Given the description of an element on the screen output the (x, y) to click on. 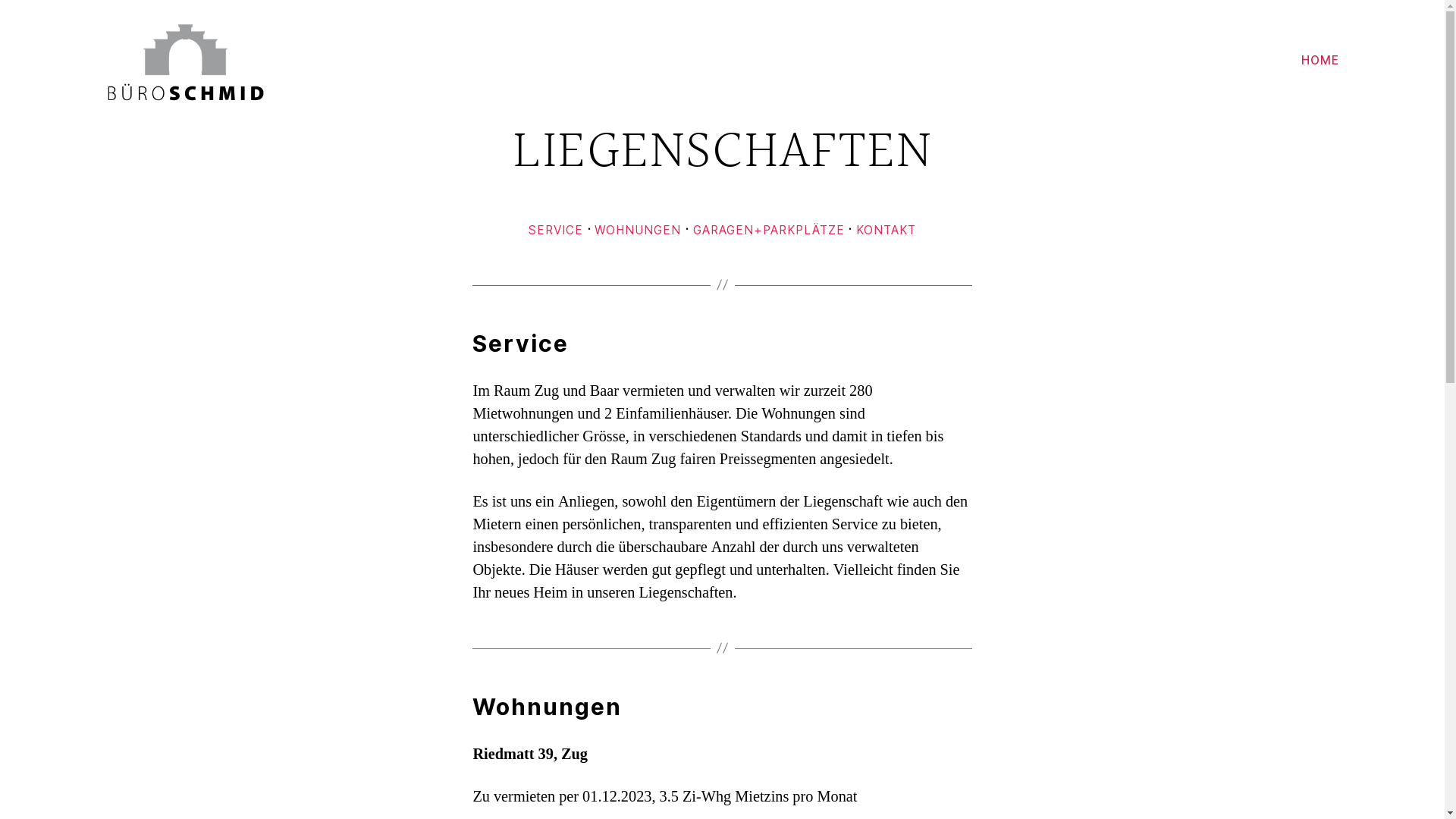
KONTAKT Element type: text (886, 229)
SERVICE Element type: text (555, 229)
HOME Element type: text (1320, 60)
WOHNUNGEN Element type: text (637, 229)
